Given the description of an element on the screen output the (x, y) to click on. 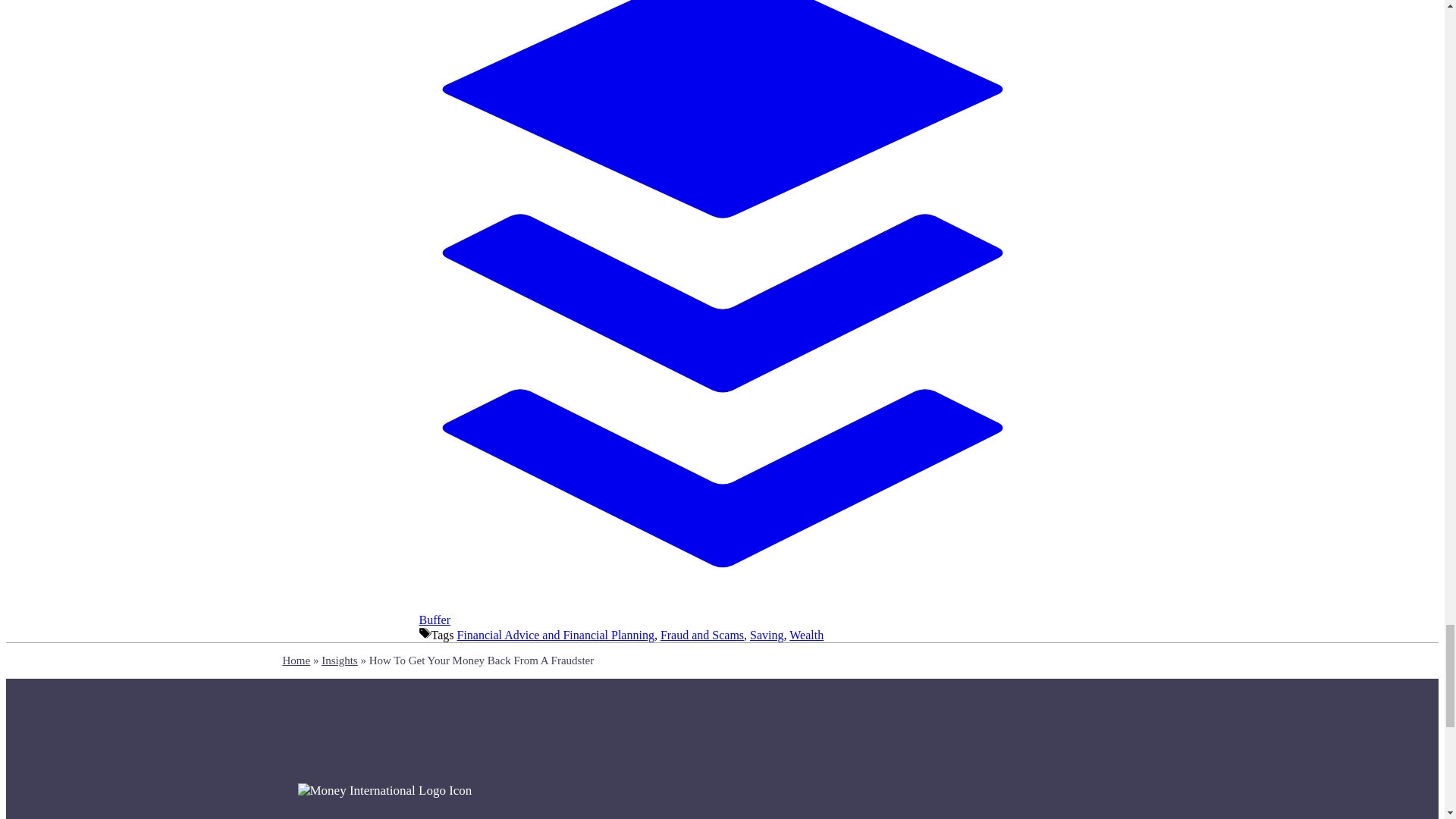
Financial Advice and Financial Planning (555, 634)
Wealth (806, 634)
Insights (339, 660)
Buffer (722, 612)
Fraud and Scams (702, 634)
Home (296, 660)
Saving (766, 634)
